Given the description of an element on the screen output the (x, y) to click on. 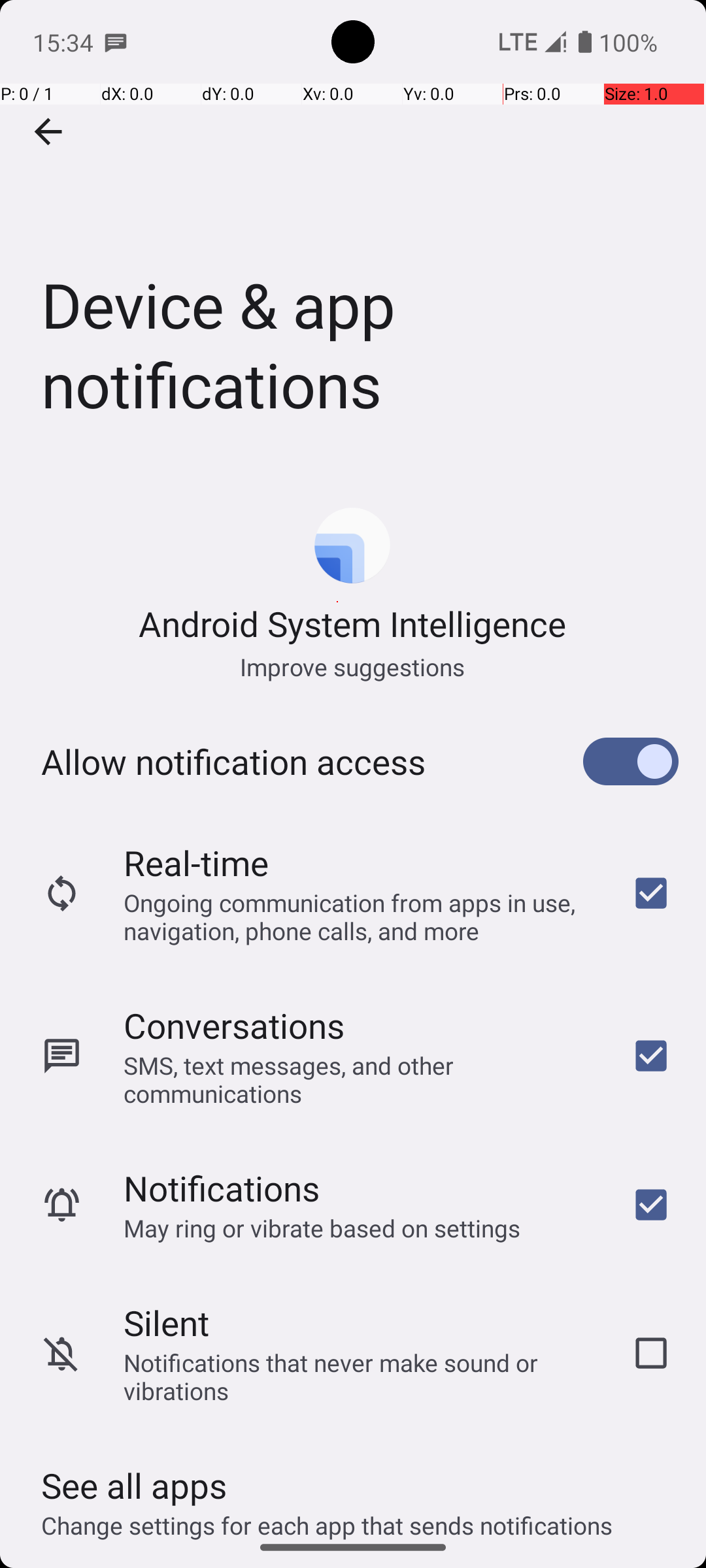
Android System Intelligence Element type: android.widget.TextView (352, 623)
Improve suggestions Element type: android.widget.TextView (352, 666)
Allow notification access Element type: android.widget.TextView (233, 761)
Real-time Element type: android.widget.TextView (195, 862)
Ongoing communication from apps in use, navigation, phone calls, and more Element type: android.widget.TextView (359, 916)
SMS, text messages, and other communications Element type: android.widget.TextView (359, 1079)
May ring or vibrate based on settings Element type: android.widget.TextView (322, 1227)
Silent Element type: android.widget.TextView (166, 1322)
Notifications that never make sound or vibrations Element type: android.widget.TextView (359, 1376)
See all apps Element type: android.widget.TextView (133, 1485)
Change settings for each app that sends notifications Element type: android.widget.TextView (326, 1517)
